Given the description of an element on the screen output the (x, y) to click on. 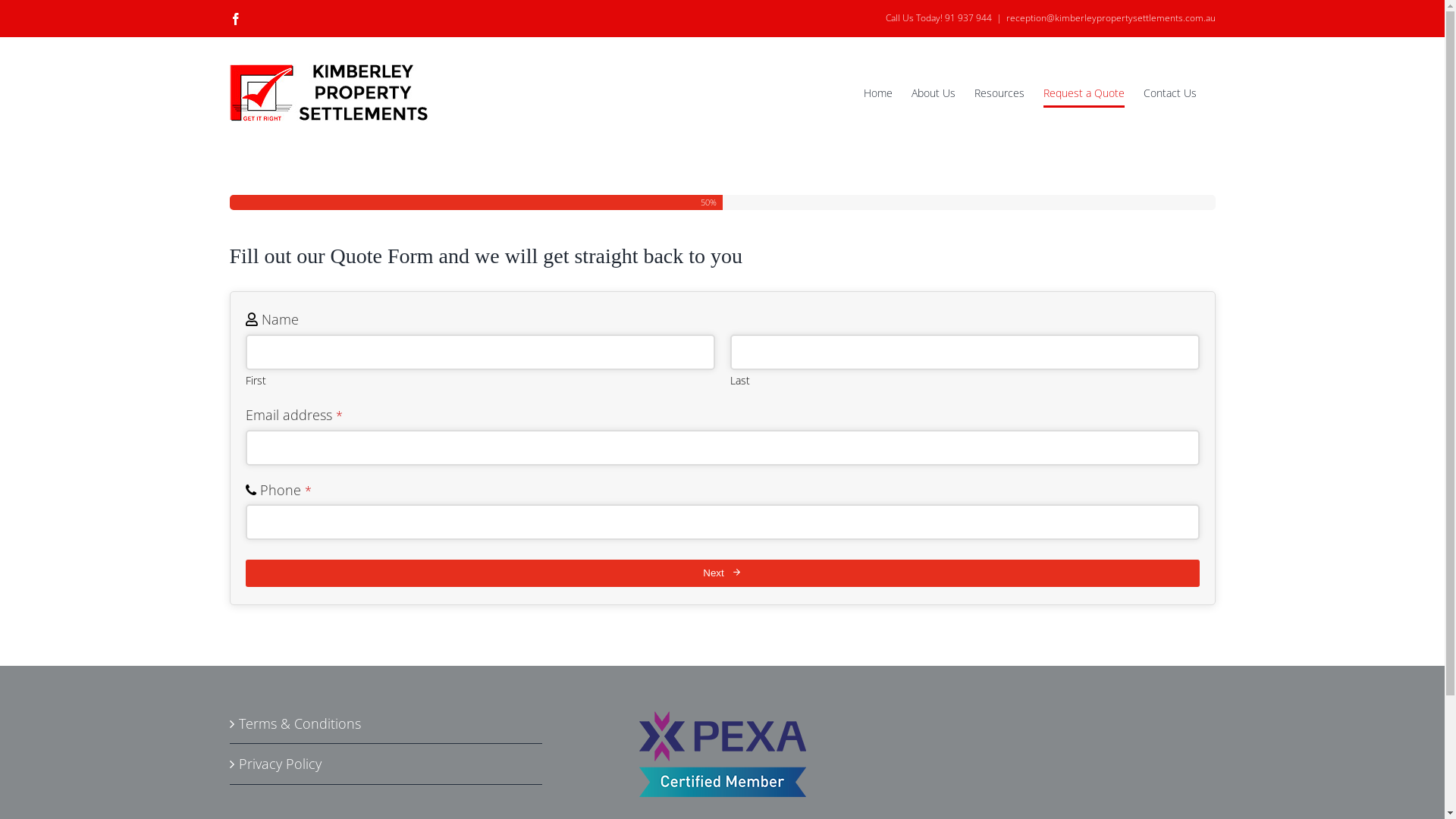
Privacy Policy Element type: text (385, 763)
Terms & Conditions Element type: text (385, 723)
Facebook Element type: text (235, 18)
Contact Us Element type: text (1169, 92)
Home Element type: text (876, 92)
reception@kimberleypropertysettlements.com.au Element type: text (1109, 17)
Next Element type: text (722, 572)
Request a Quote Element type: text (1083, 92)
Resources Element type: text (998, 92)
About Us Element type: text (933, 92)
